Given the description of an element on the screen output the (x, y) to click on. 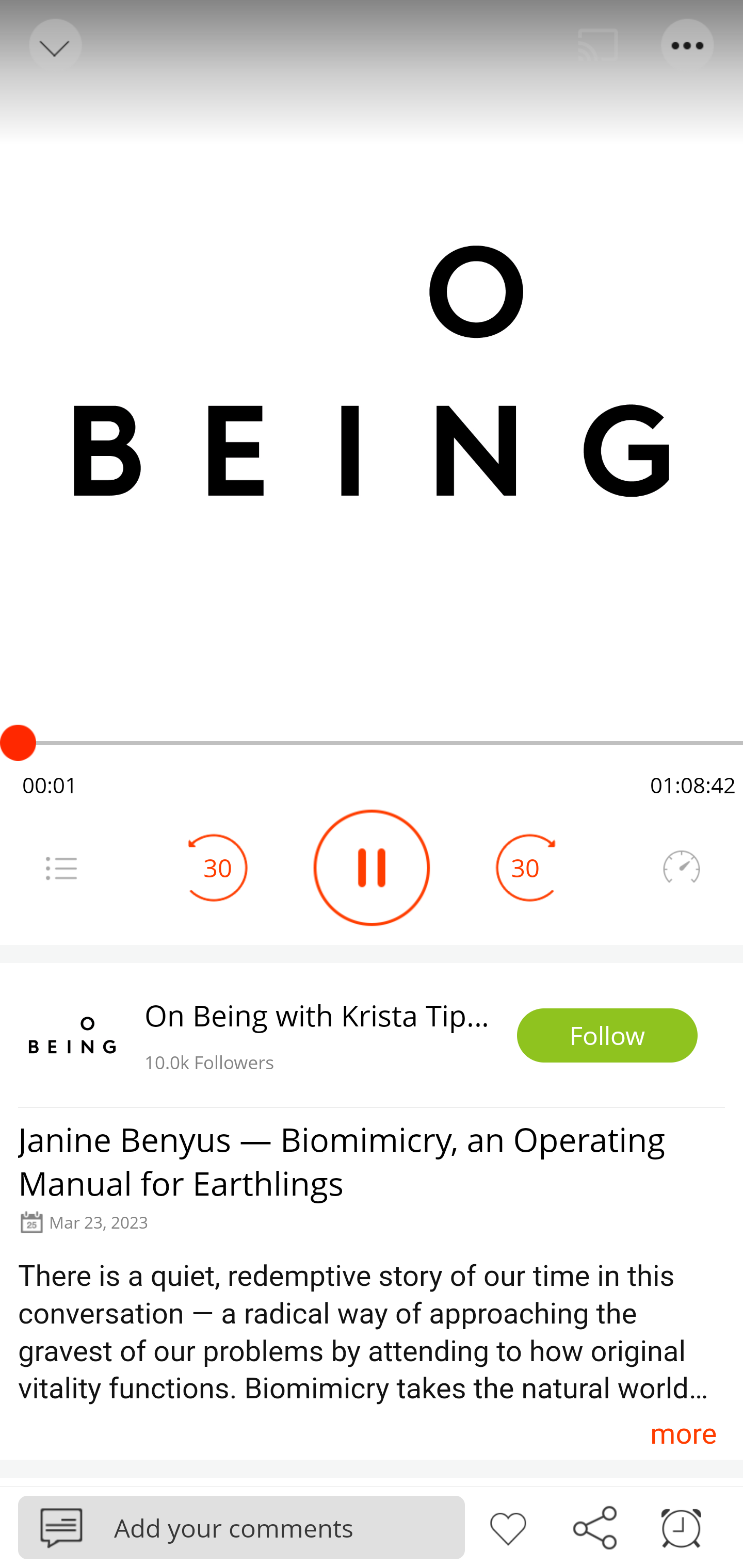
Back (53, 45)
Cast. Disconnected (597, 45)
Menu (688, 45)
Play (371, 867)
30 Seek Backward (217, 867)
30 Seek Forward (525, 867)
Menu (60, 867)
Speedometer (681, 867)
Follow (607, 1035)
more (682, 1432)
Like (508, 1526)
Share (594, 1526)
Sleep timer (681, 1526)
Podbean Add your comments (241, 1526)
